Given the description of an element on the screen output the (x, y) to click on. 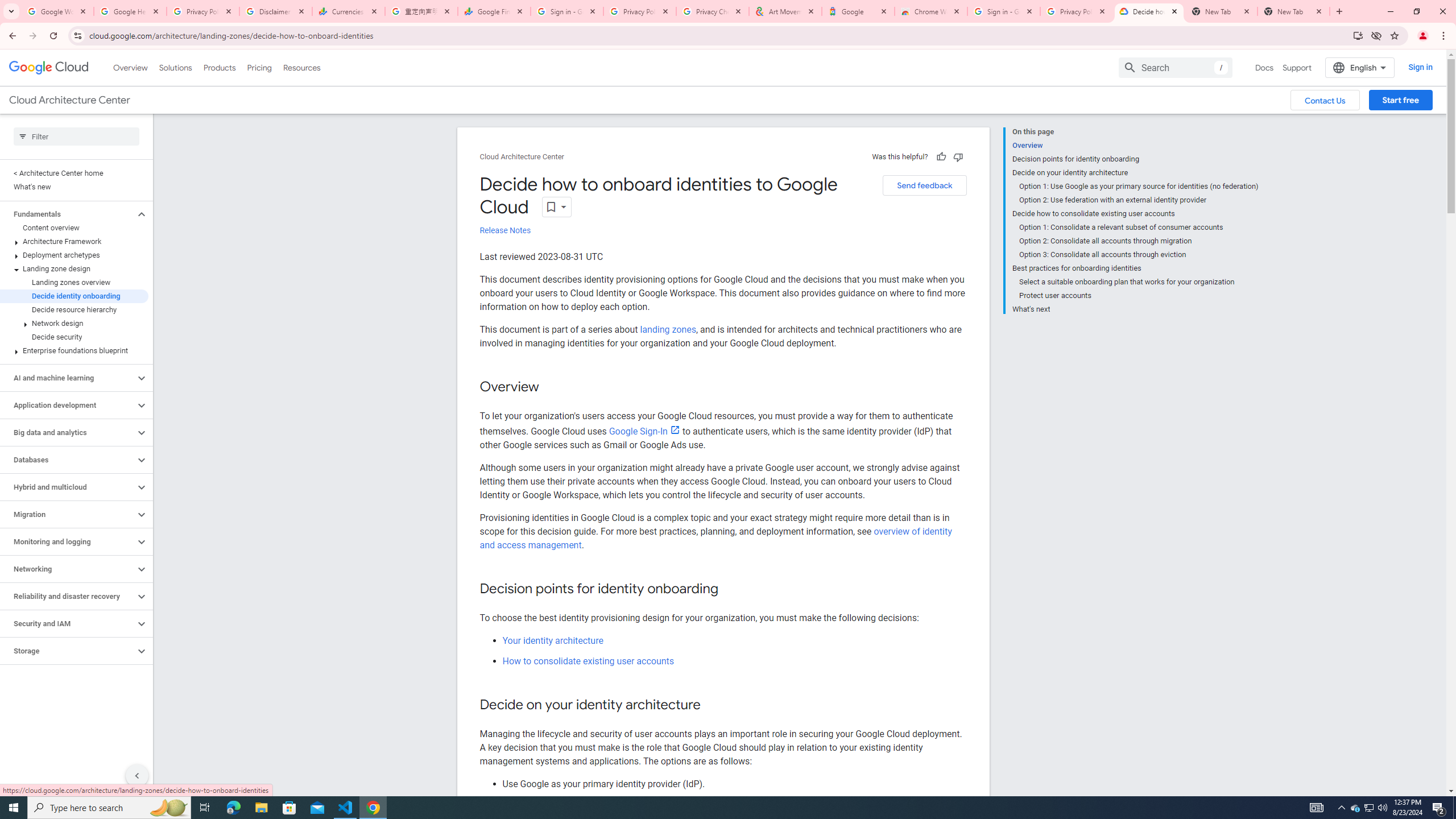
Not helpful (957, 156)
Network design (74, 323)
Option 2: Use federation with an external identity provider (1138, 200)
Resources (301, 67)
Landing zones overview (74, 282)
Storage (67, 650)
What's new (74, 187)
Sign in - Google Accounts (566, 11)
Networking (67, 568)
Contact Us (1324, 100)
overview of identity and access management (715, 537)
Docs, selected (1264, 67)
Google Workspace Admin Community (57, 11)
